Given the description of an element on the screen output the (x, y) to click on. 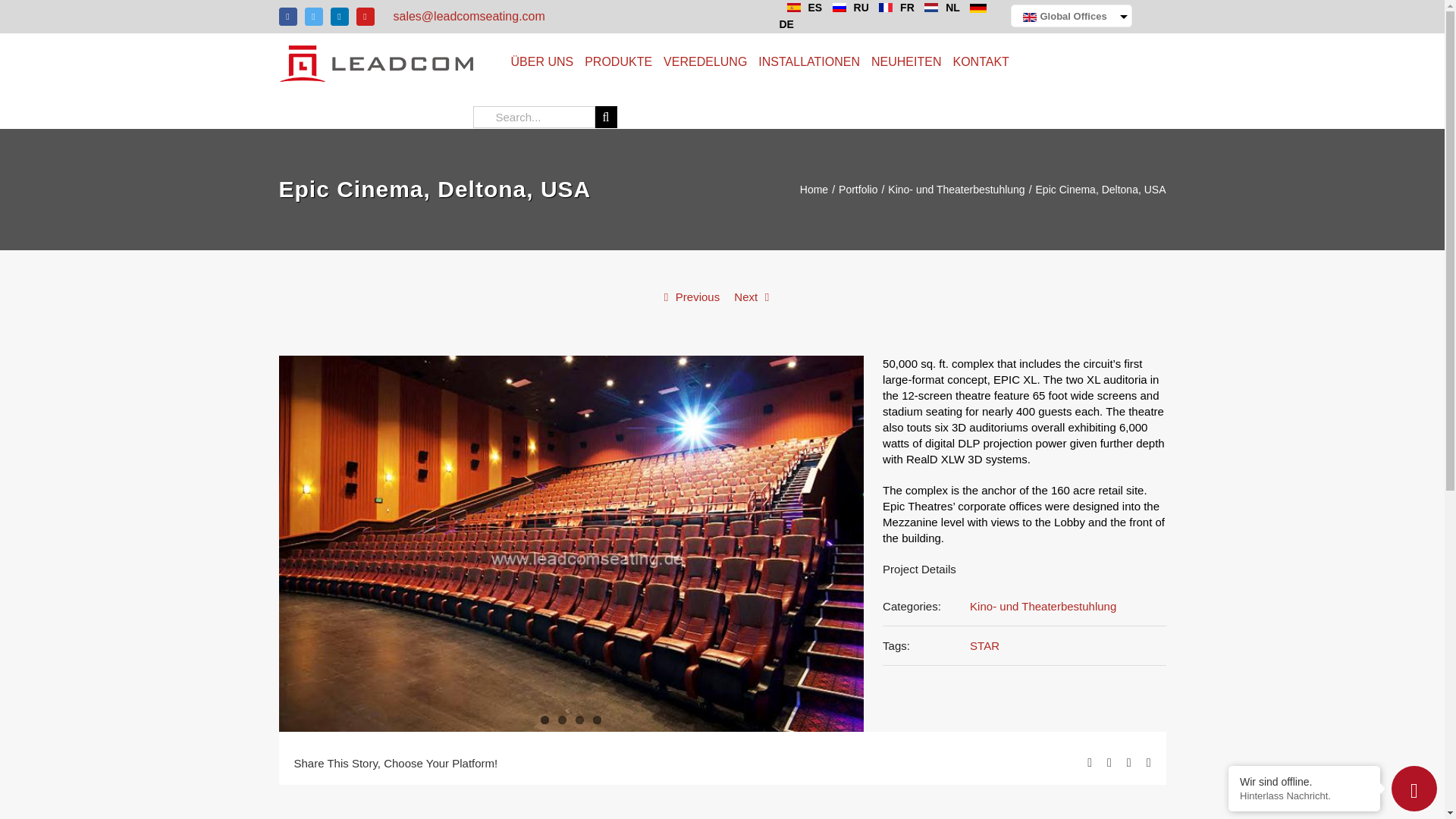
Facebook (288, 16)
NL (938, 7)
ES (800, 7)
PRODUKTE (618, 61)
Global Offices (1070, 17)
FR (892, 7)
RU (847, 7)
Hinterlass Nachricht. (1304, 795)
LinkedIn (339, 16)
YouTube (365, 16)
DE (886, 15)
Wir sind offline. (1304, 781)
Twitter (313, 16)
